Given the description of an element on the screen output the (x, y) to click on. 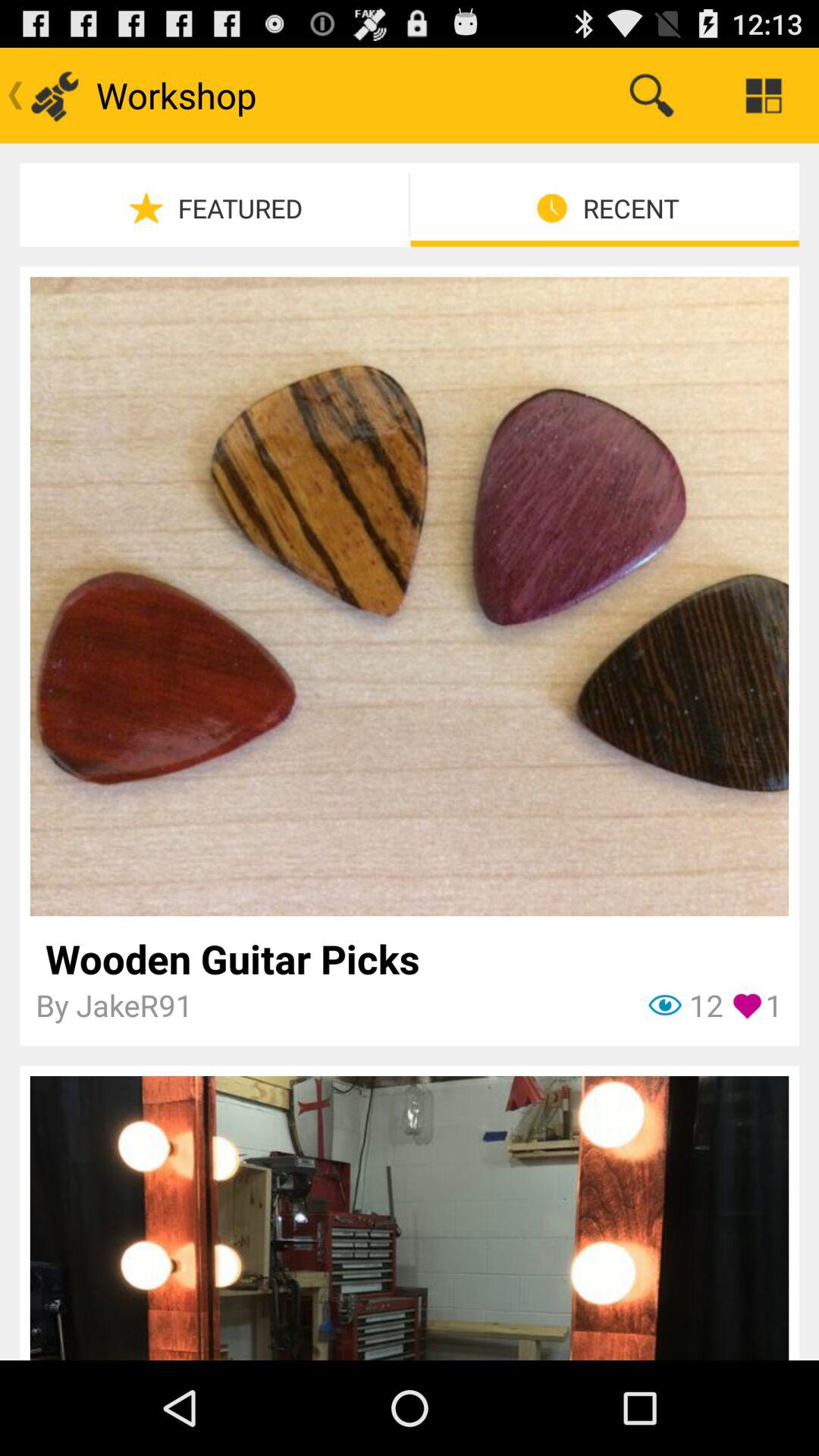
choose the icon above the recent item (651, 95)
